Given the description of an element on the screen output the (x, y) to click on. 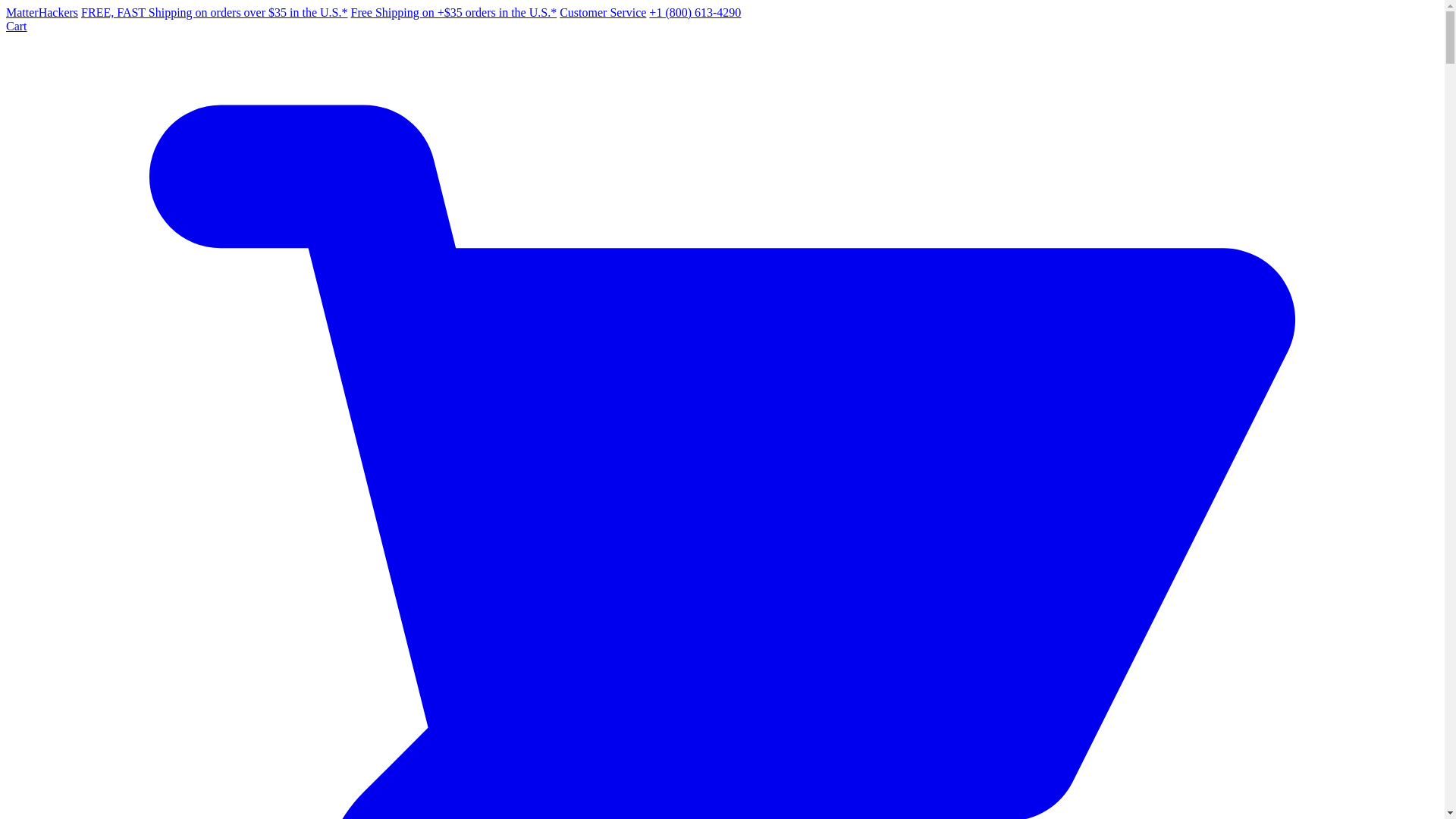
Customer Service (602, 11)
MatterHackers (41, 11)
